Given the description of an element on the screen output the (x, y) to click on. 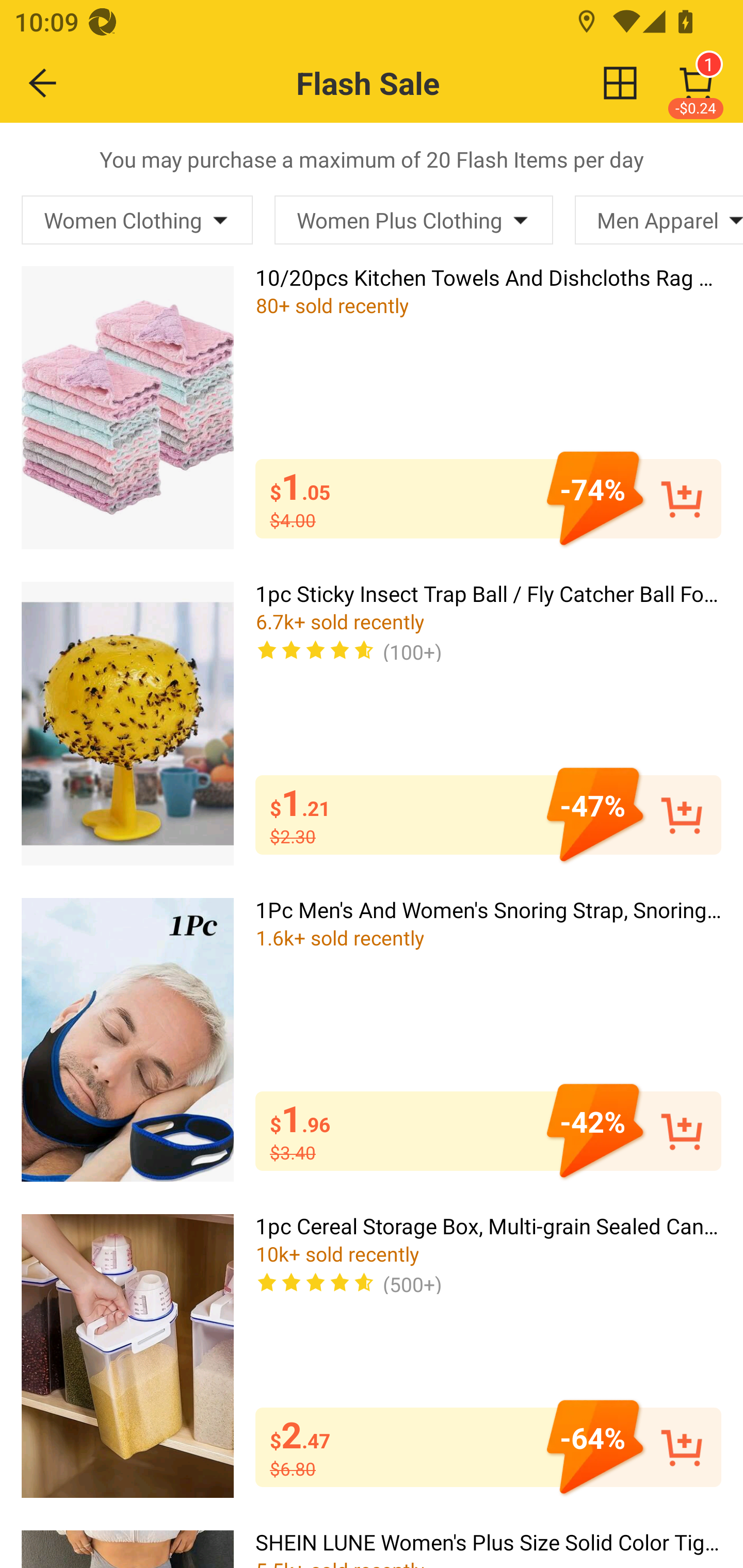
Flash Sale change view 1 -$0.24 (414, 82)
1 -$0.24 (695, 82)
change view (620, 82)
BACK (43, 83)
Women Clothing (136, 220)
Women Plus Clothing (413, 220)
Men Apparel (659, 220)
